Given the description of an element on the screen output the (x, y) to click on. 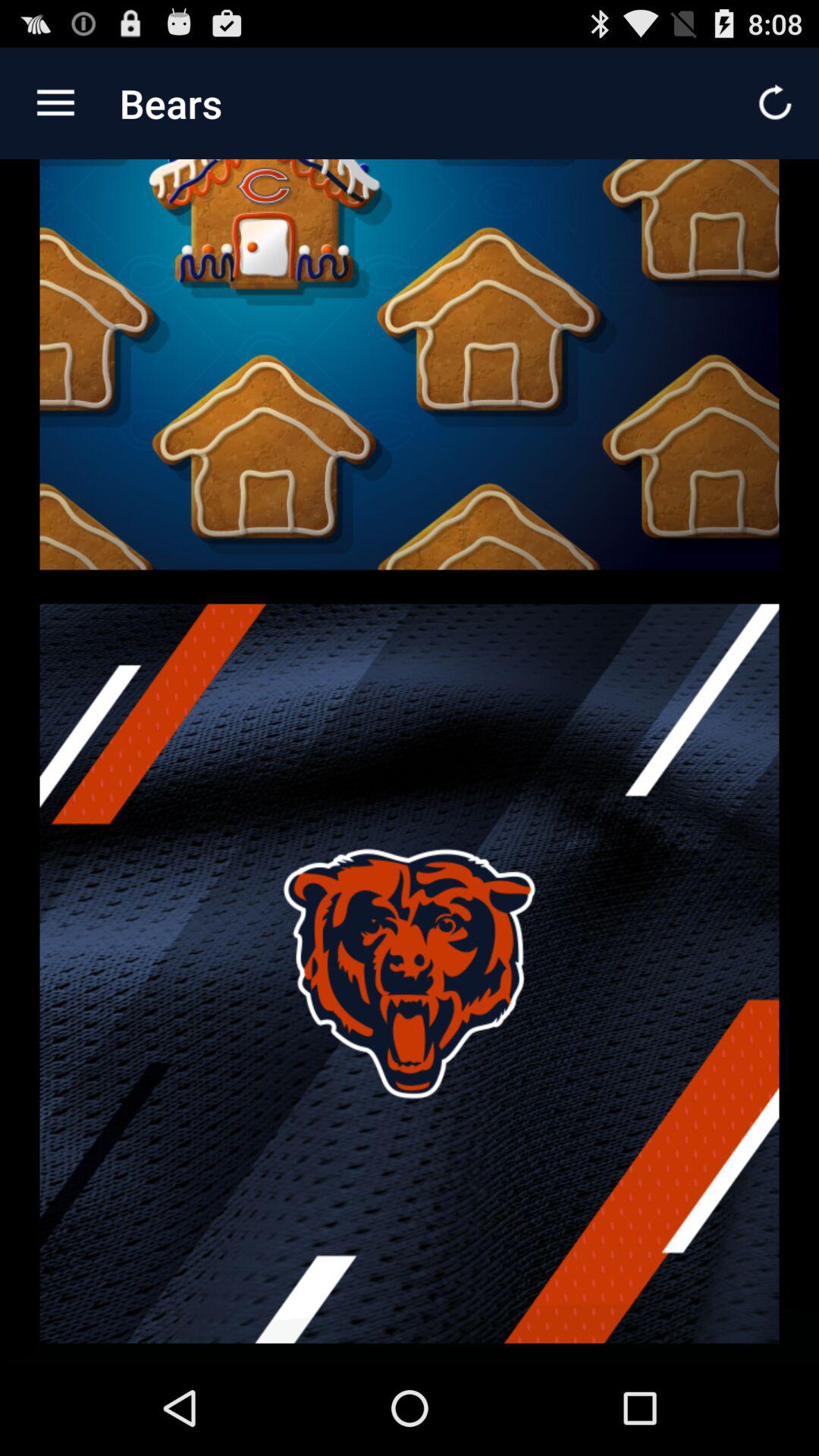
tap icon next to the bears (55, 103)
